Given the description of an element on the screen output the (x, y) to click on. 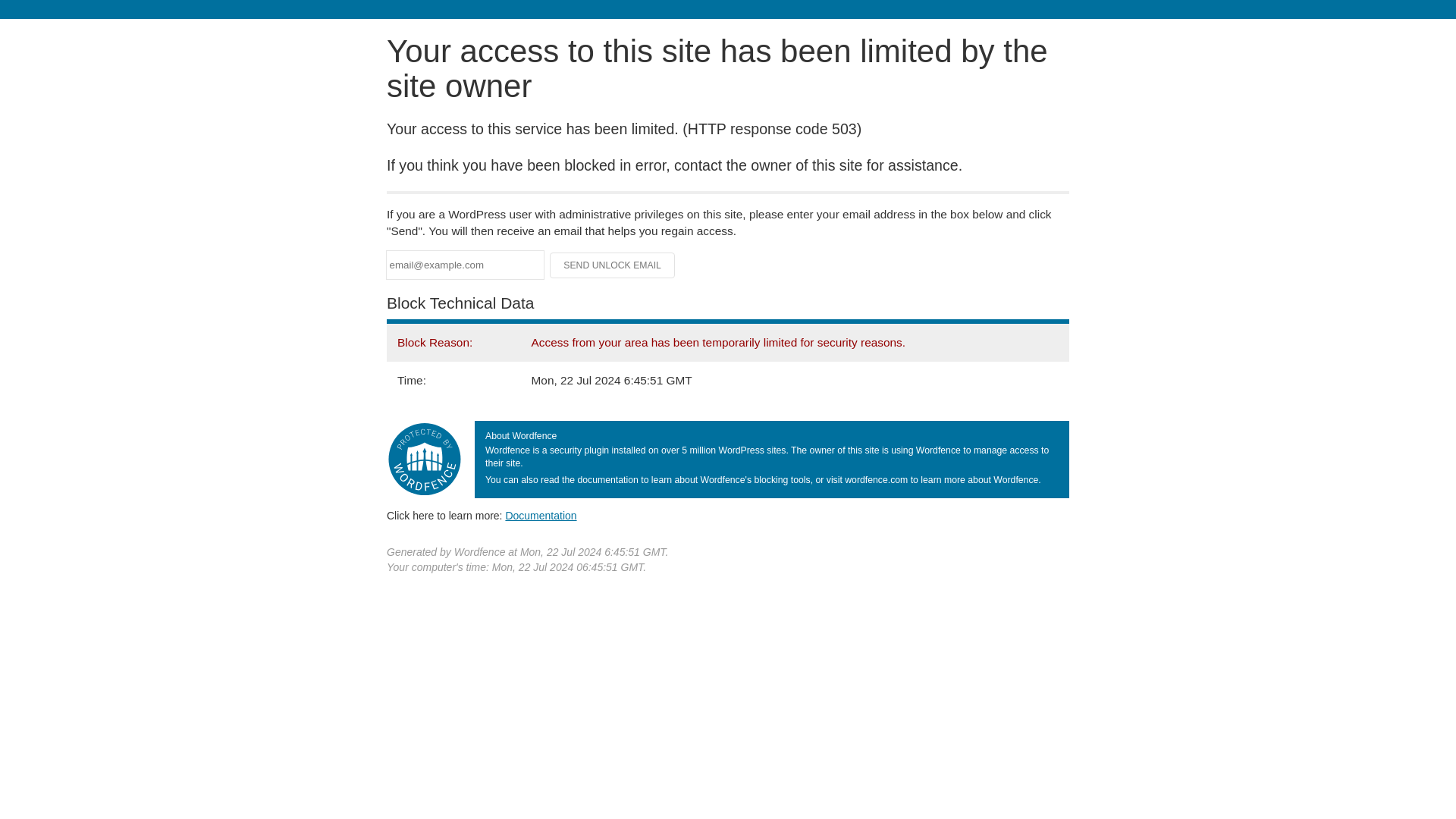
Documentation (540, 515)
Send Unlock Email (612, 265)
Send Unlock Email (612, 265)
